Given the description of an element on the screen output the (x, y) to click on. 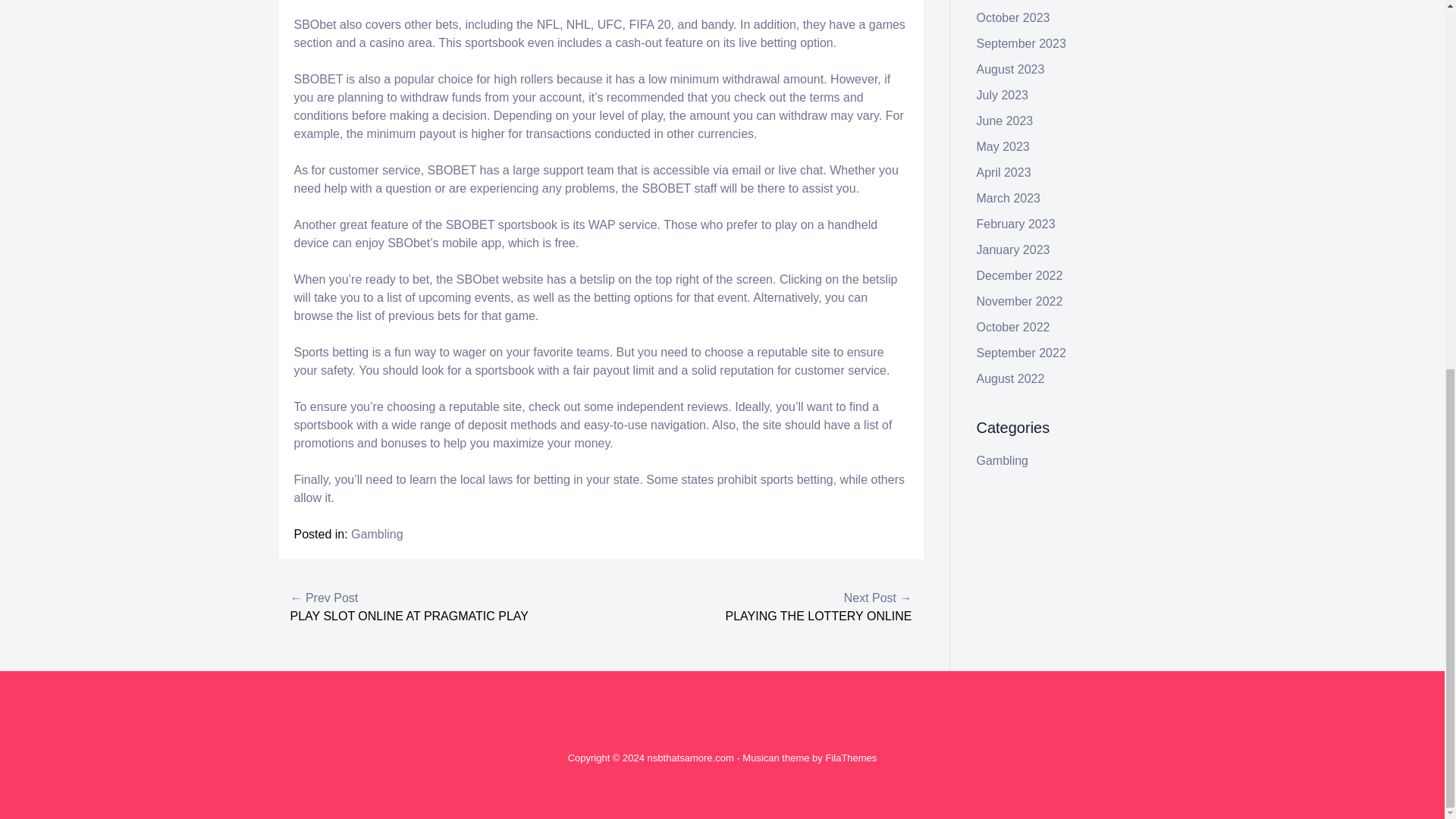
August 2023 (1010, 69)
Gambling (376, 533)
September 2022 (1020, 352)
April 2023 (1003, 172)
May 2023 (1002, 146)
January 2023 (1012, 249)
October 2022 (1012, 327)
Gambling (1001, 460)
June 2023 (1004, 120)
September 2023 (1020, 42)
